Given the description of an element on the screen output the (x, y) to click on. 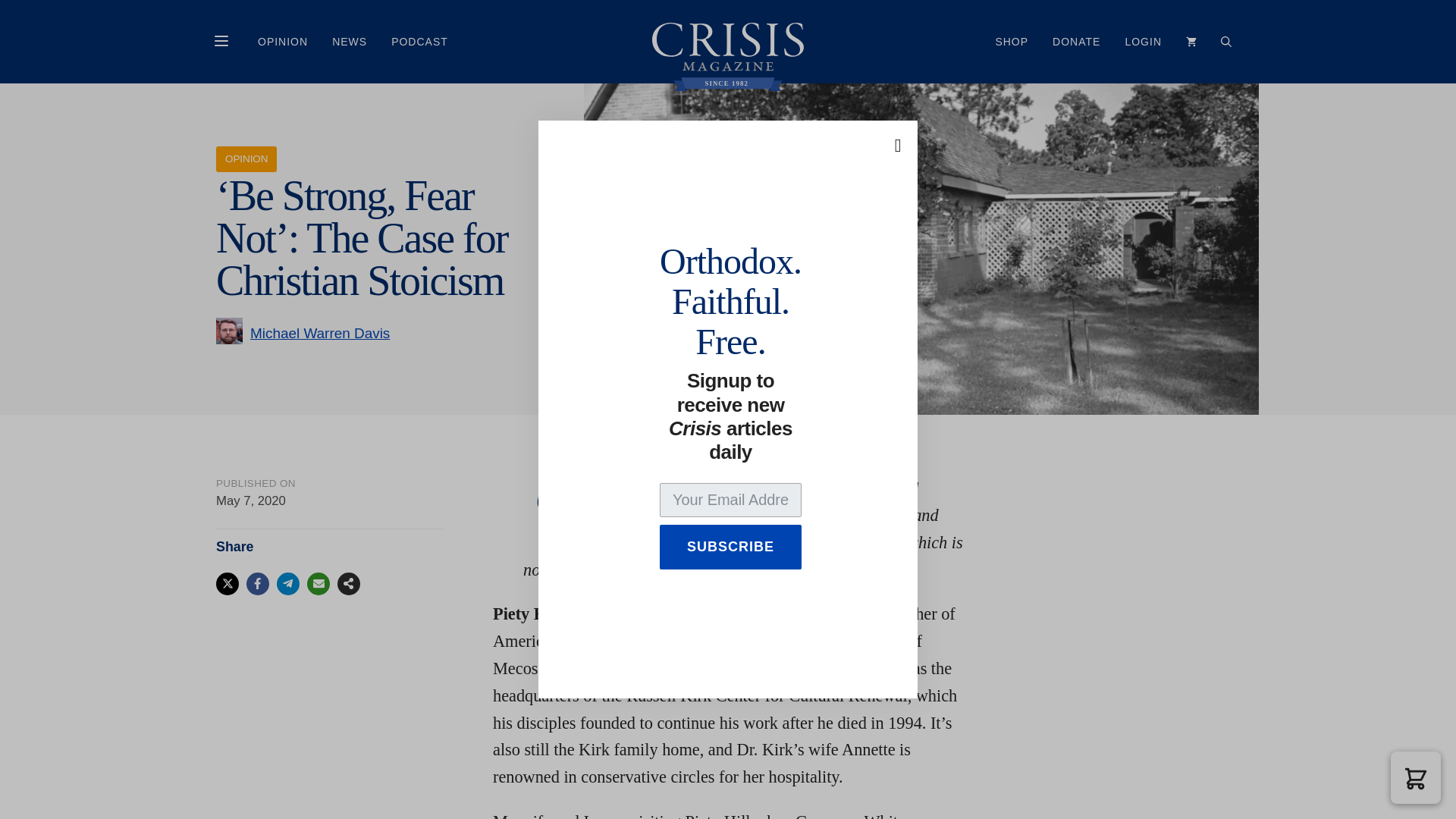
PODCAST (419, 41)
Michael Warren Davis (320, 332)
SHOP (1011, 41)
LOGIN (1142, 41)
NEWS (349, 41)
DONATE (1076, 41)
OPINION (283, 41)
